Given the description of an element on the screen output the (x, y) to click on. 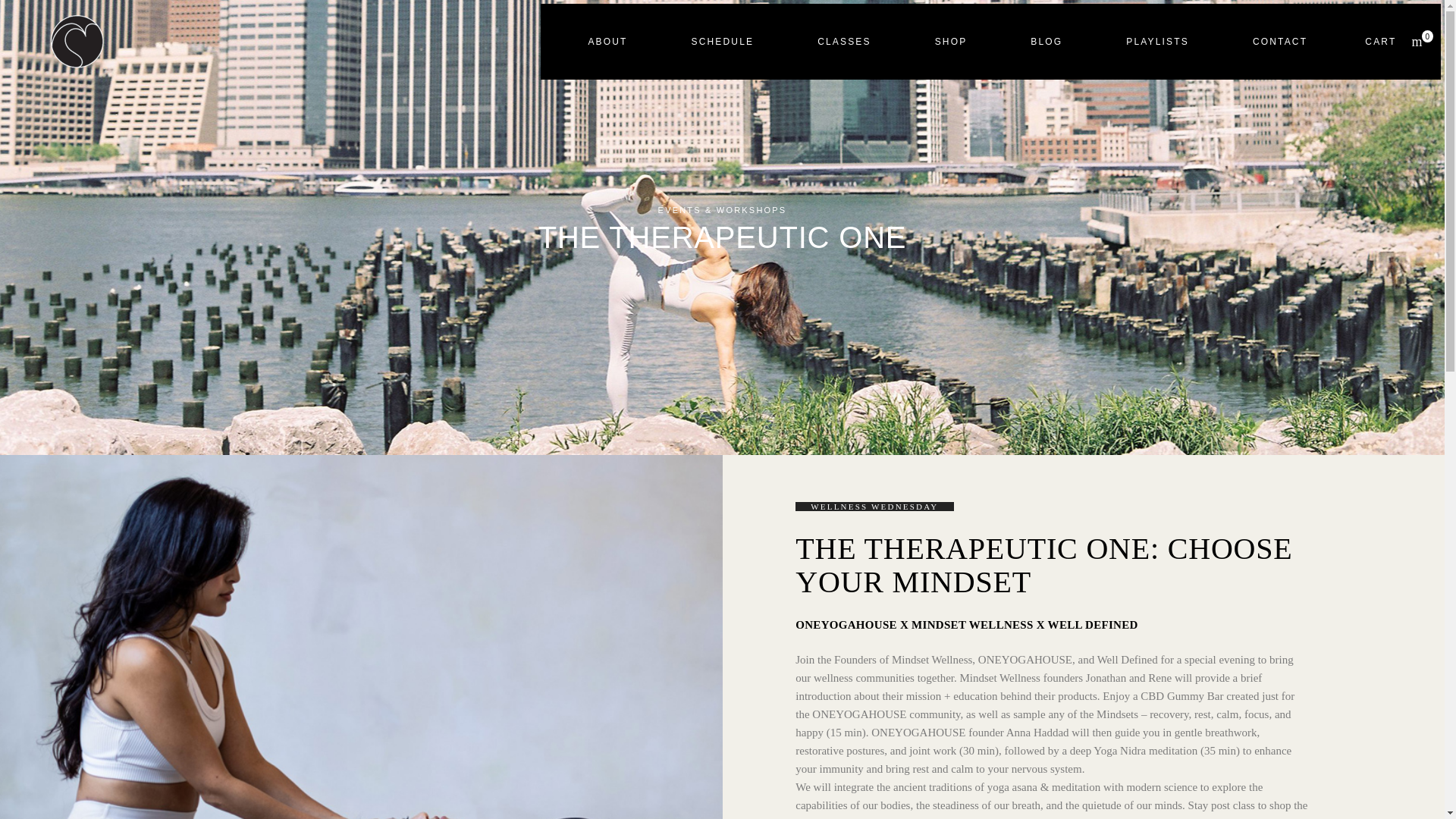
SHOP (950, 41)
ABOUT (607, 41)
SCHEDULE (722, 41)
PLAYLISTS (1390, 41)
CLASSES (1157, 41)
BLOG (844, 41)
CONTACT (1046, 41)
